Given the description of an element on the screen output the (x, y) to click on. 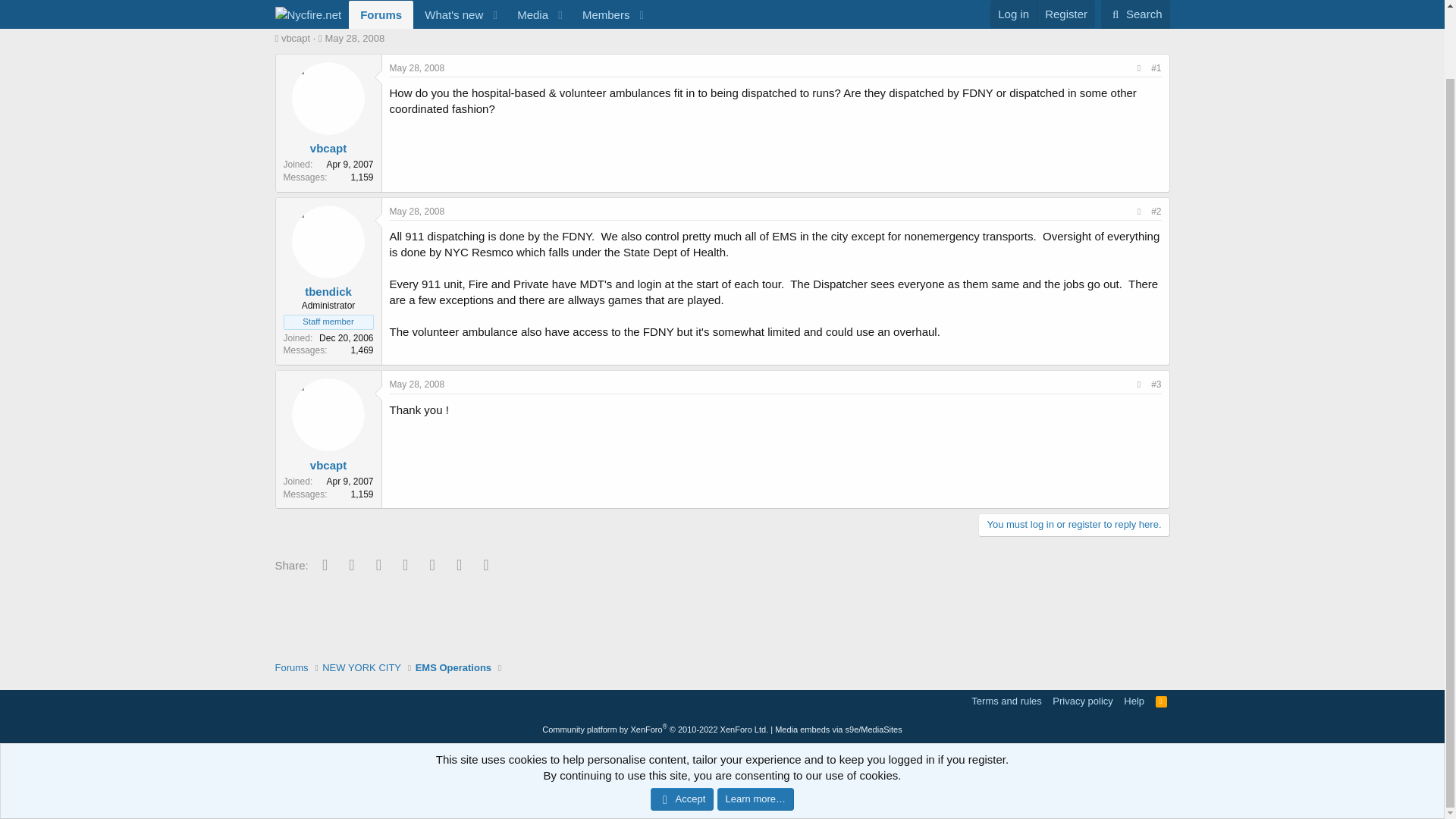
May 28, 2008 at 8:46 AM (354, 38)
May 28, 2008 at 8:00 PM (417, 384)
RSS (1161, 700)
May 28, 2008 at 7:04 PM (417, 211)
May 28, 2008 (354, 38)
vbcapt (295, 38)
May 28, 2008 at 8:46 AM (417, 68)
